Given the description of an element on the screen output the (x, y) to click on. 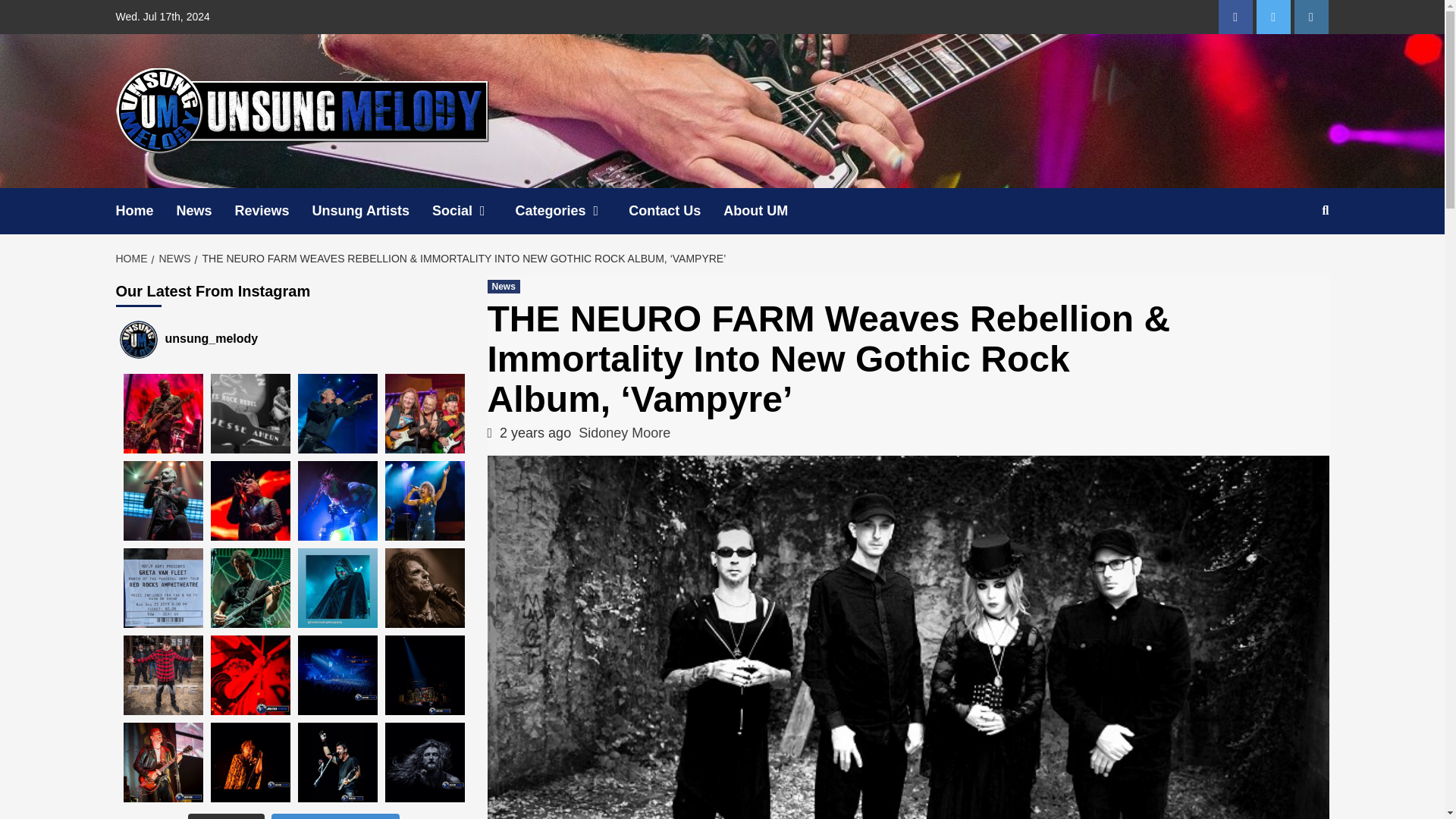
About UM (766, 211)
News (205, 211)
Contact Us (675, 211)
HOME (133, 258)
Reviews (273, 211)
Facebook (1235, 17)
NEWS (173, 258)
Categories (571, 211)
News (502, 286)
Sidoney Moore (623, 432)
Twitter (1273, 17)
Instagram (1310, 17)
Social (473, 211)
Unsung Artists (372, 211)
Home (145, 211)
